Given the description of an element on the screen output the (x, y) to click on. 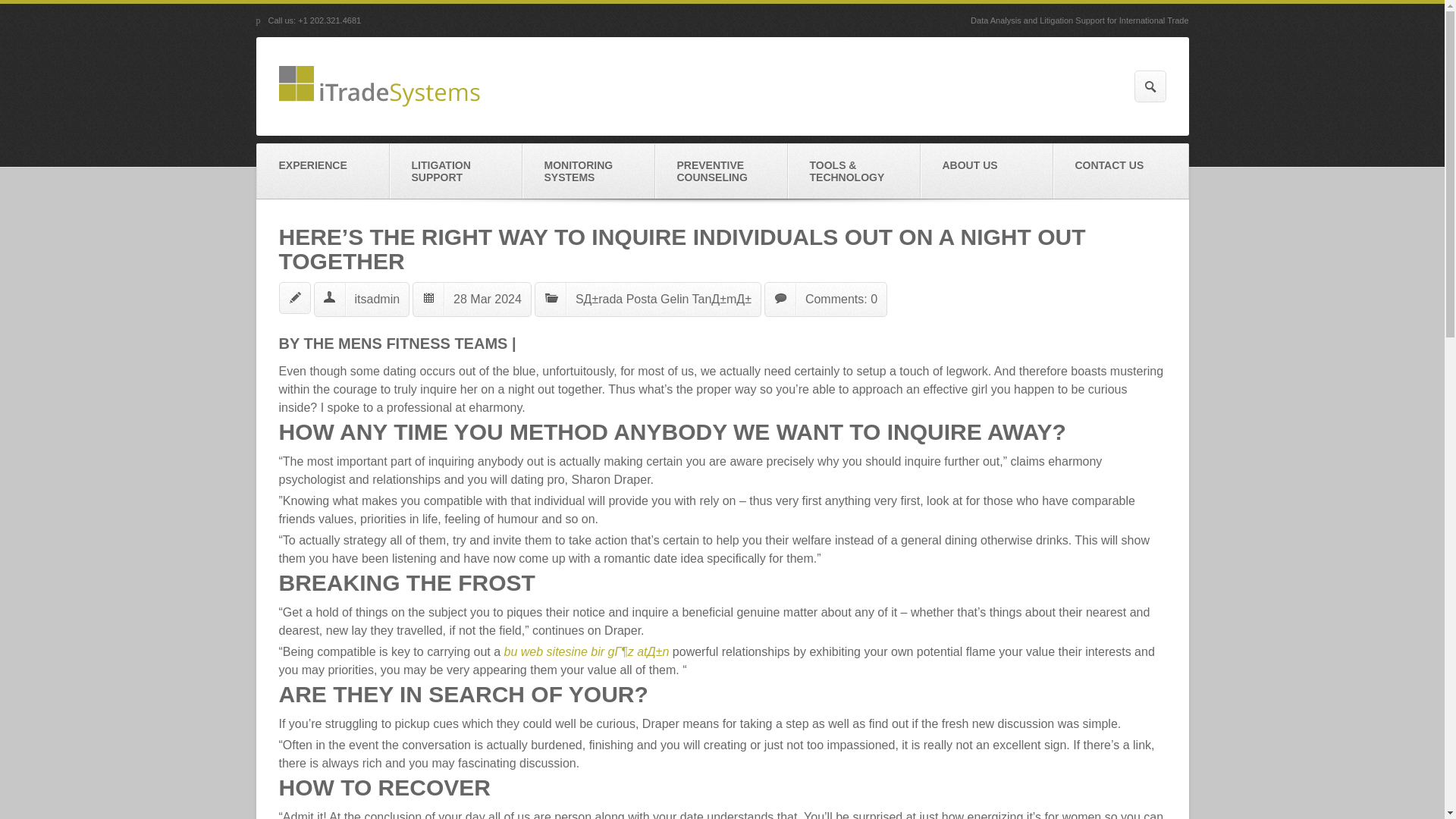
Posts by itsadmin (377, 298)
itsadmin (377, 298)
ABOUT US (986, 171)
CONTACT US (1120, 171)
EXPERIENCE (322, 171)
PREVENTIVE COUNSELING (721, 171)
Comments: 0 (841, 298)
LITIGATION SUPPORT (456, 171)
MONITORING SYSTEMS (587, 171)
